Given the description of an element on the screen output the (x, y) to click on. 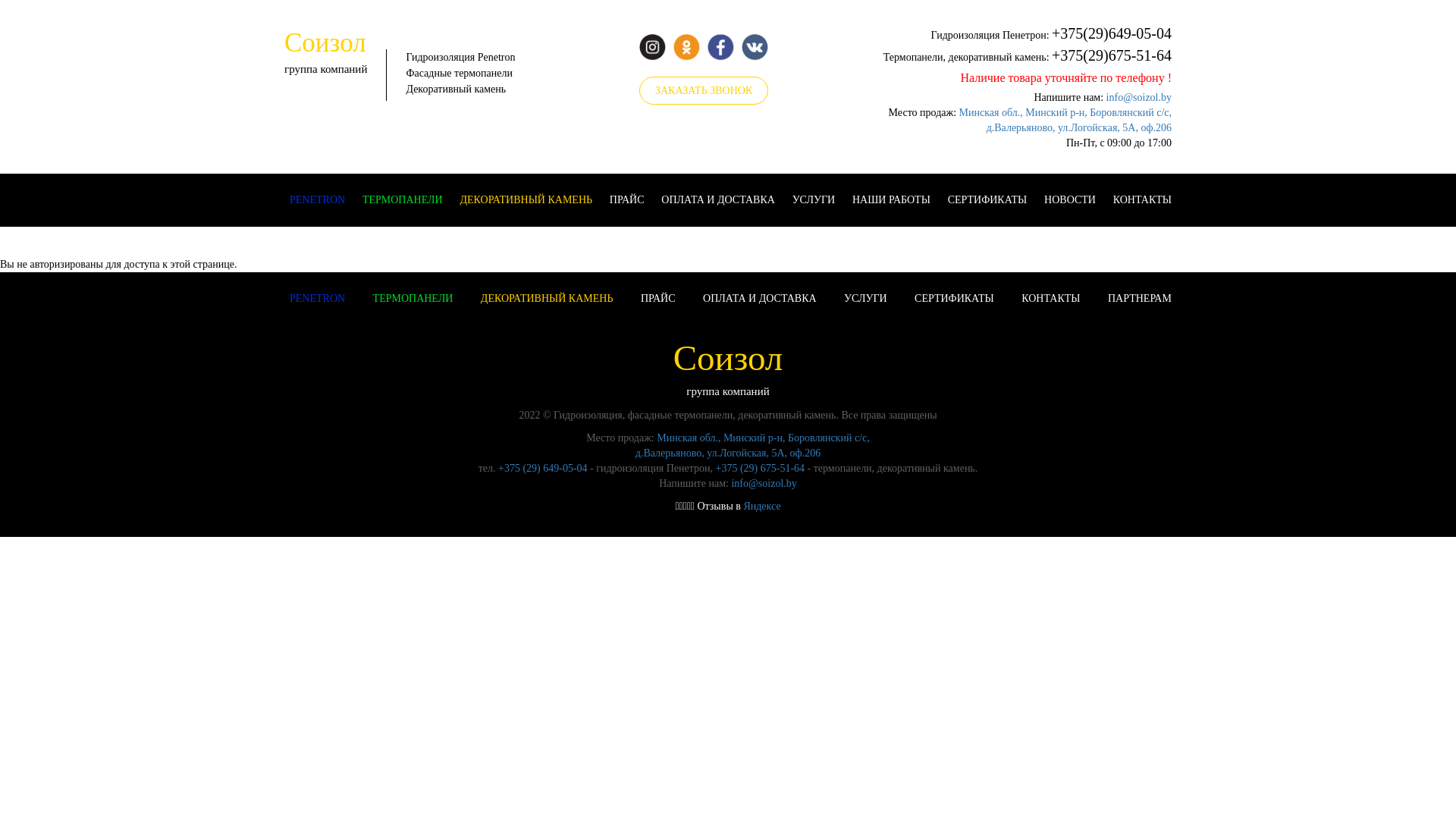
+375 (29) 649-05-04 Element type: text (542, 467)
info@soizol.by Element type: text (1138, 97)
Instagram Element type: hover (652, 46)
+375 (29) 675-51-64 Element type: text (760, 467)
info@soizol.by Element type: text (763, 483)
Facebook Element type: hover (720, 46)
PENETRON Element type: text (317, 298)
PENETRON Element type: text (317, 199)
+375(29)649-05-04 Element type: text (1111, 33)
+375(29)675-51-64 Element type: text (1111, 55)
